Given the description of an element on the screen output the (x, y) to click on. 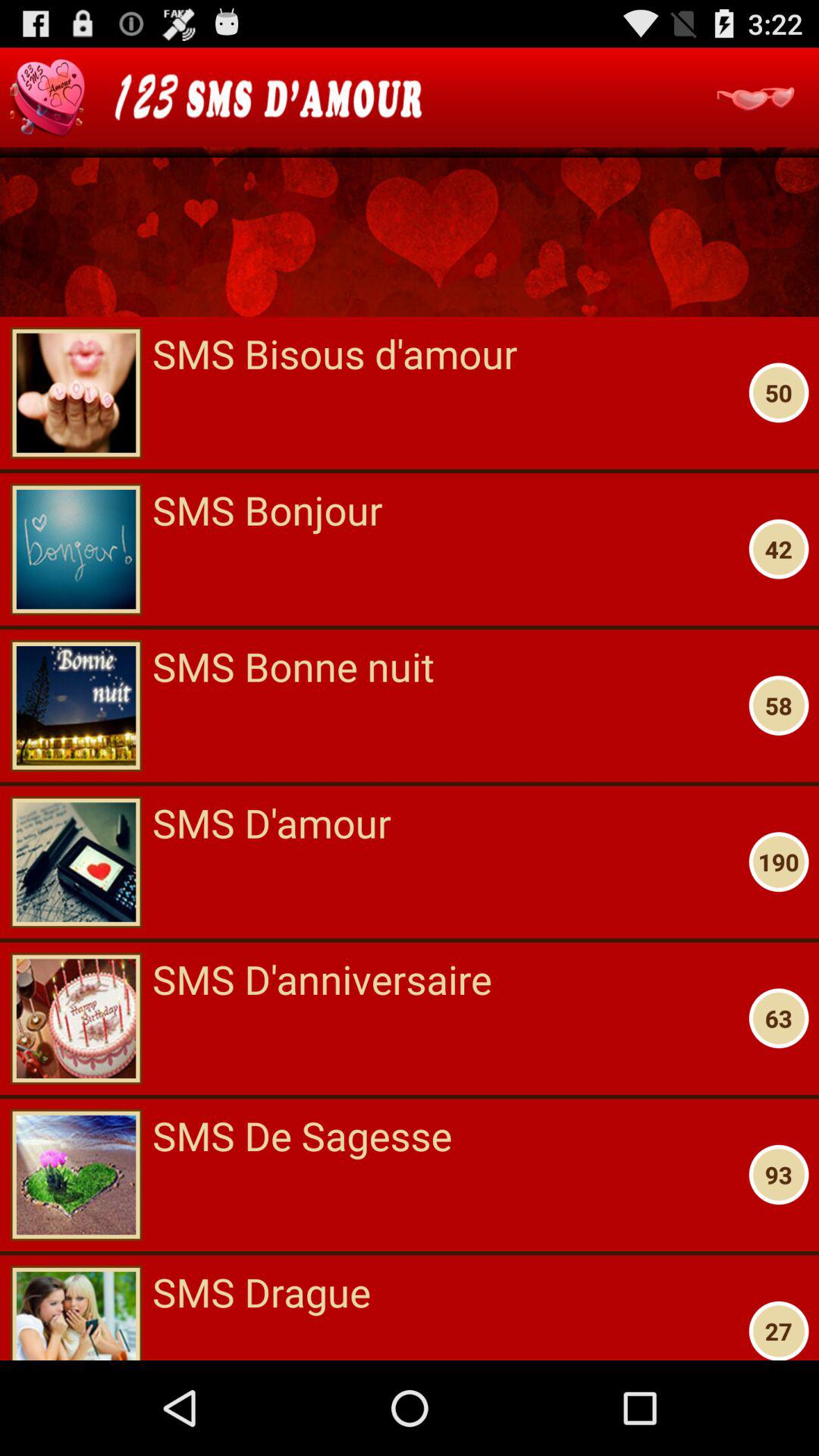
menu dropdown (755, 97)
